Given the description of an element on the screen output the (x, y) to click on. 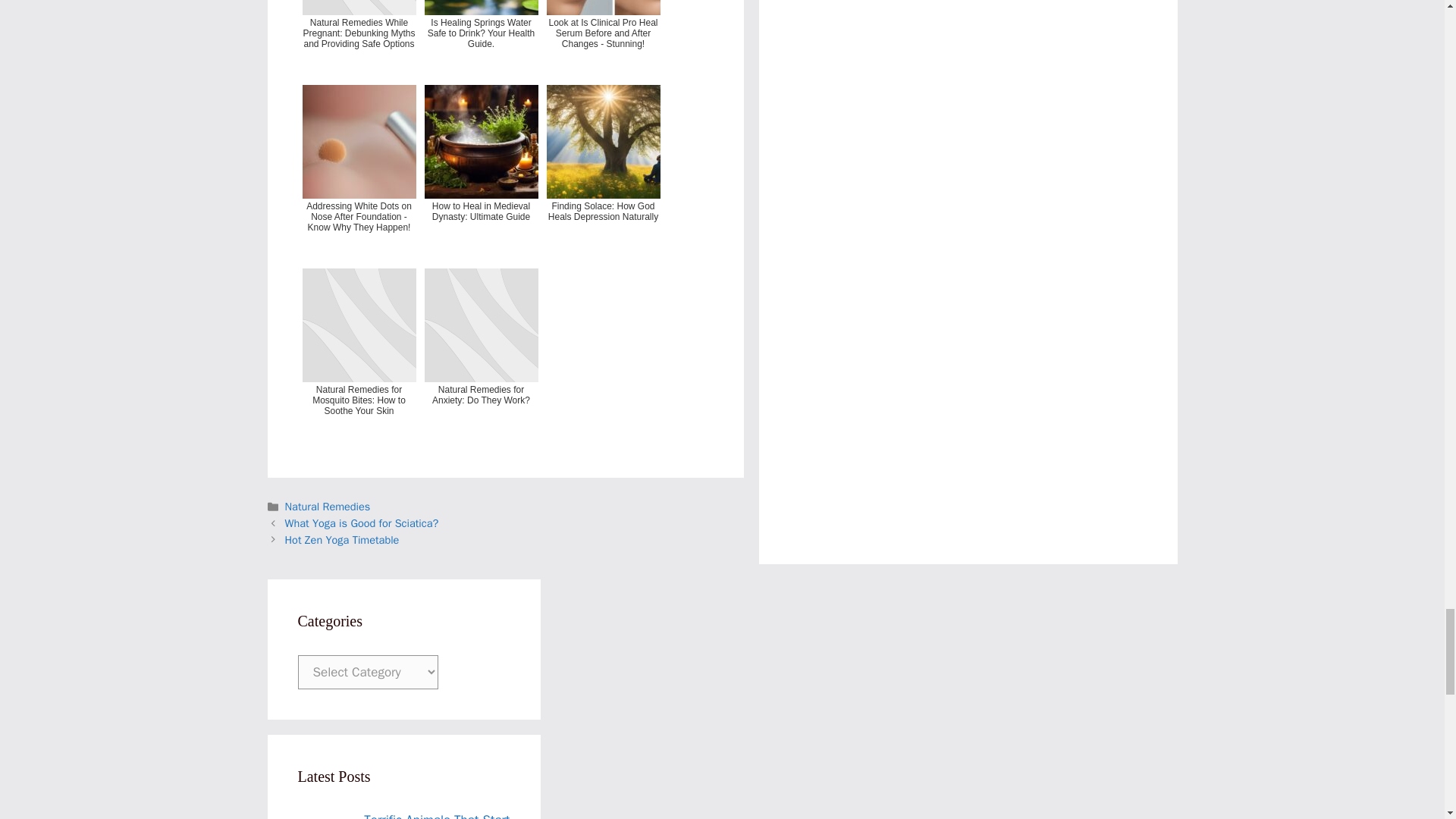
What Yoga is Good for Sciatica? (362, 522)
Is Healing Springs Water Safe to Drink? Your Health Guide. (481, 38)
Natural Remedies (328, 506)
